Given the description of an element on the screen output the (x, y) to click on. 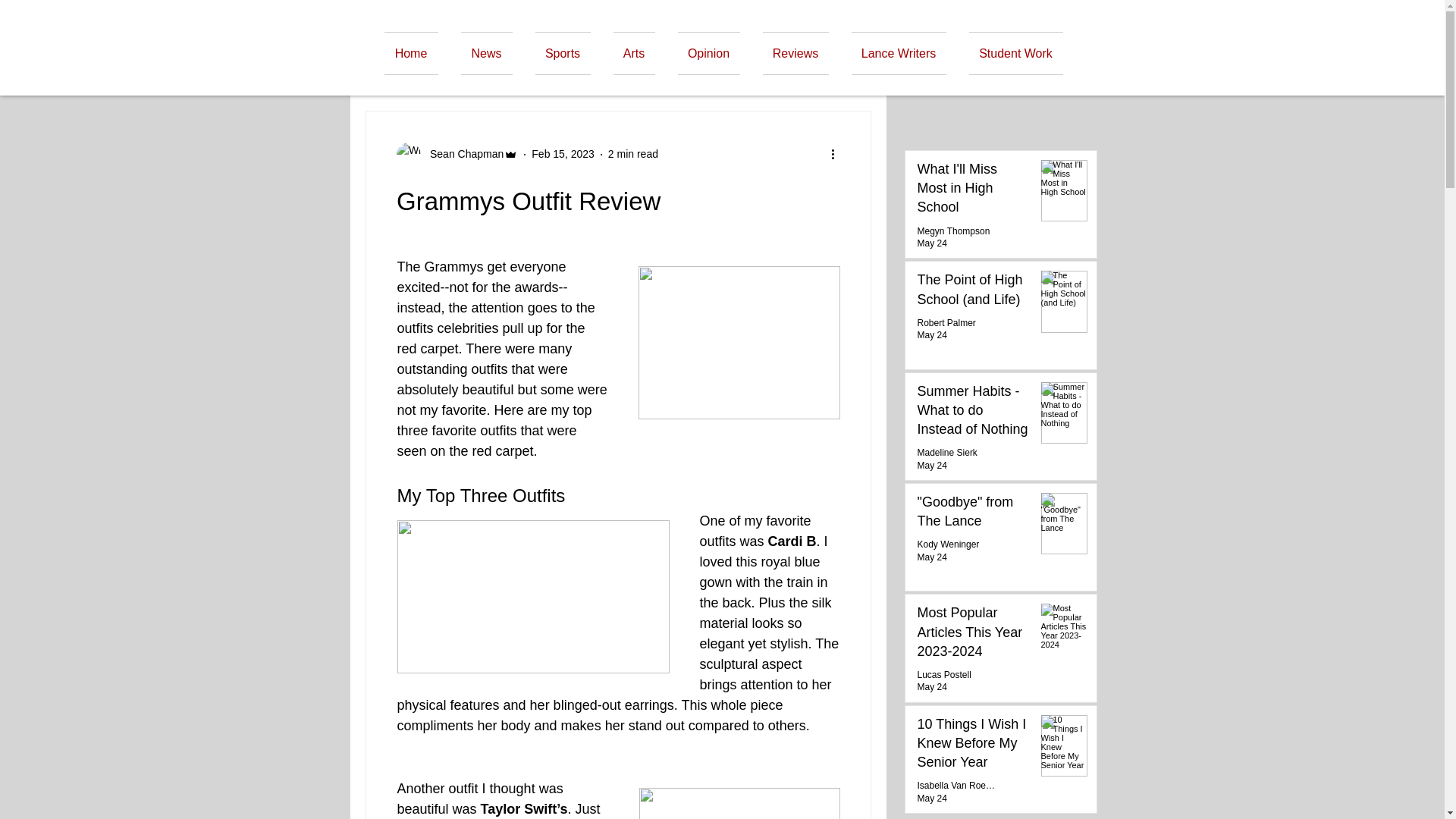
News (485, 53)
What I'll Miss Most in High School (973, 191)
Sean Chapman (461, 154)
2 min read (633, 153)
May 24 (932, 335)
May 24 (932, 243)
Megyn Thompson (953, 230)
Reviews (795, 53)
Madeline Sierk (946, 452)
Megyn Thompson (953, 231)
